Given the description of an element on the screen output the (x, y) to click on. 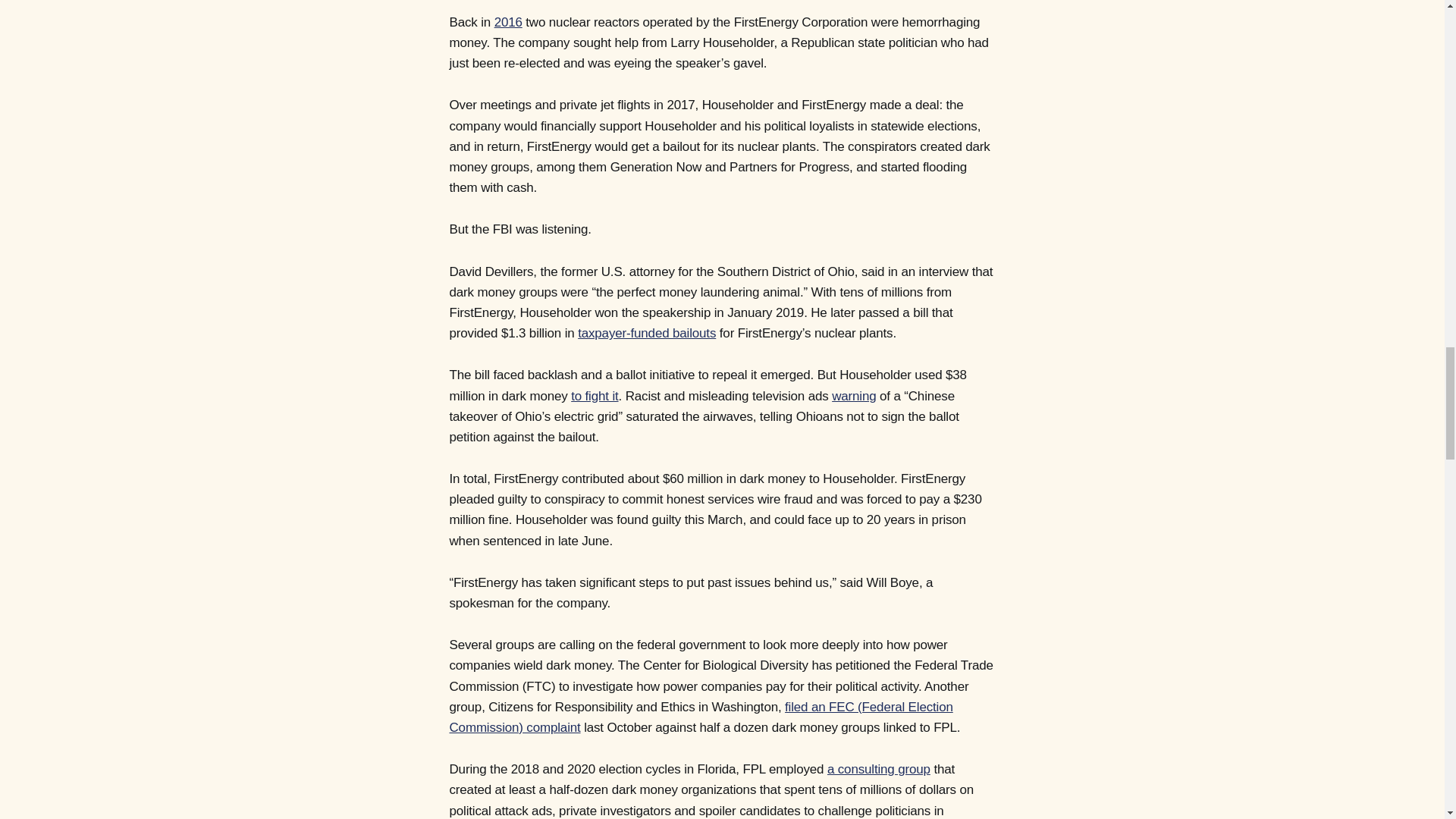
a consulting group (878, 769)
to fight it (593, 396)
warning (853, 396)
2016 (508, 22)
taxpayer-funded bailouts (647, 332)
